Given the description of an element on the screen output the (x, y) to click on. 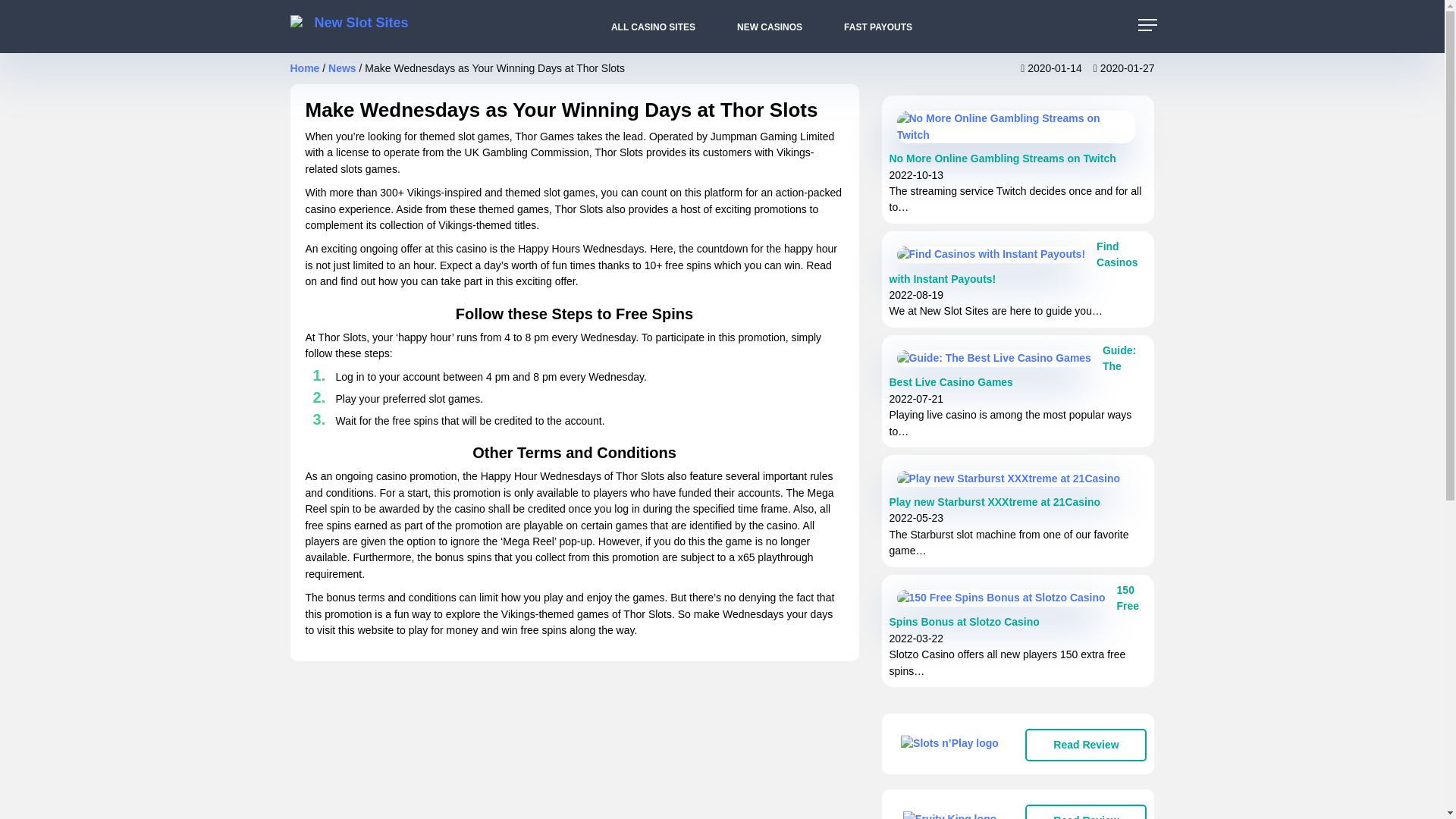
Fruity King (948, 815)
New Slot Sites (354, 26)
Home (303, 68)
Guide: The Best Live Casino Games (1011, 366)
Read Review (1086, 811)
No More Online Gambling Streams on Twitch (1001, 158)
NEW CASINOS (756, 27)
Play new Starburst XXXtreme at 21Casino (994, 501)
Find Casinos with Instant Payouts! (1012, 262)
Read Review (1086, 744)
